Given the description of an element on the screen output the (x, y) to click on. 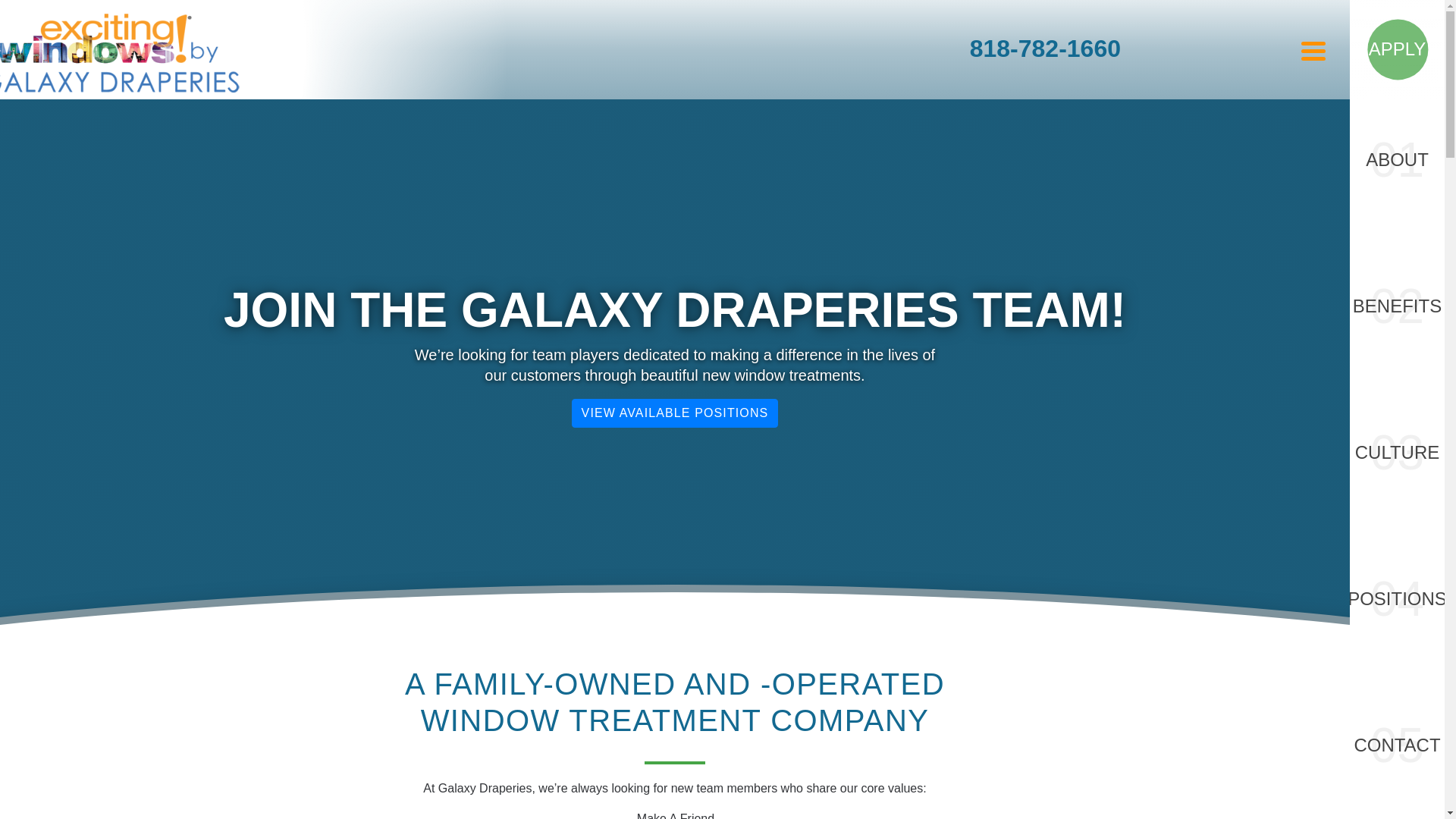
APPLY (1396, 49)
Galaxy Draperies (109, 49)
818-782-1660 (1045, 49)
VIEW AVAILABLE POSITIONS (675, 412)
